Given the description of an element on the screen output the (x, y) to click on. 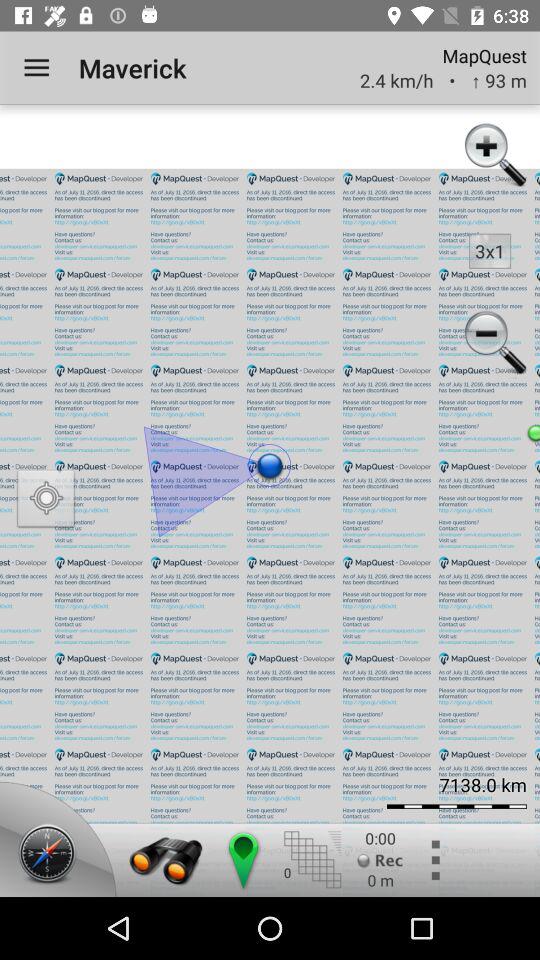
center map (242, 860)
